Given the description of an element on the screen output the (x, y) to click on. 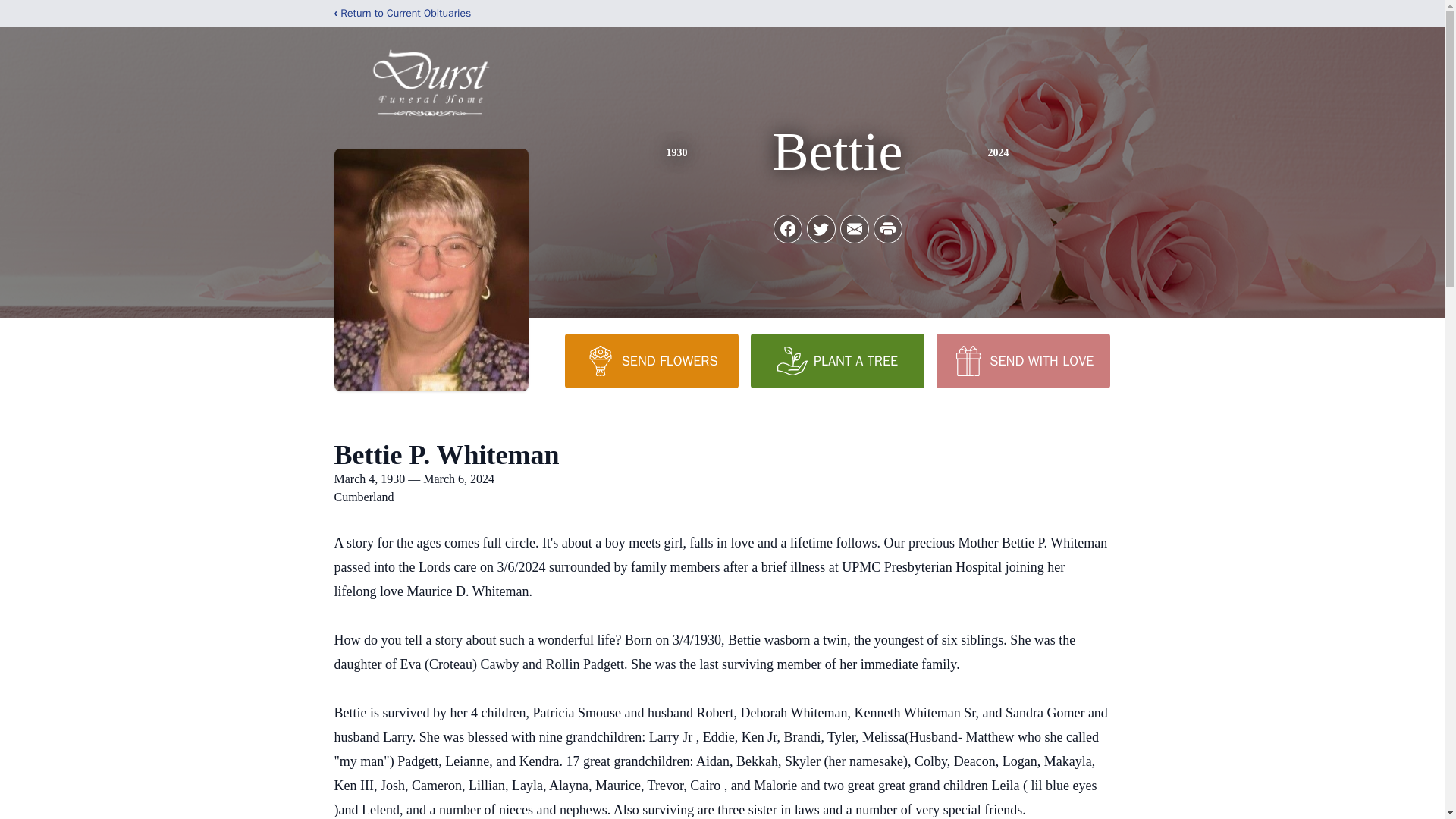
SEND WITH LOVE (1022, 360)
SEND FLOWERS (651, 360)
PLANT A TREE (837, 360)
